Given the description of an element on the screen output the (x, y) to click on. 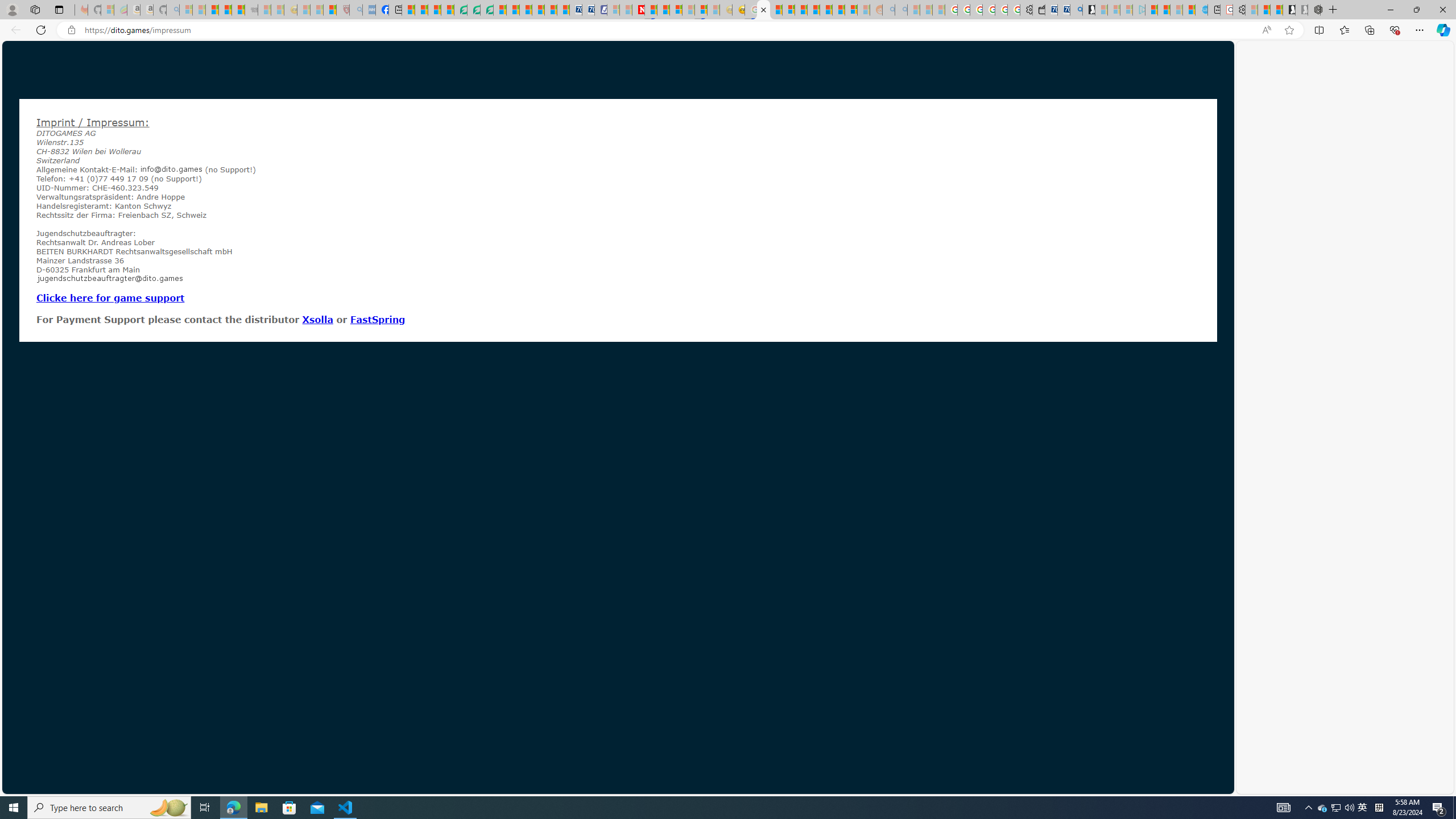
Bing Real Estate - Home sales and rental listings (1076, 9)
Wallet (1038, 9)
